Given the description of an element on the screen output the (x, y) to click on. 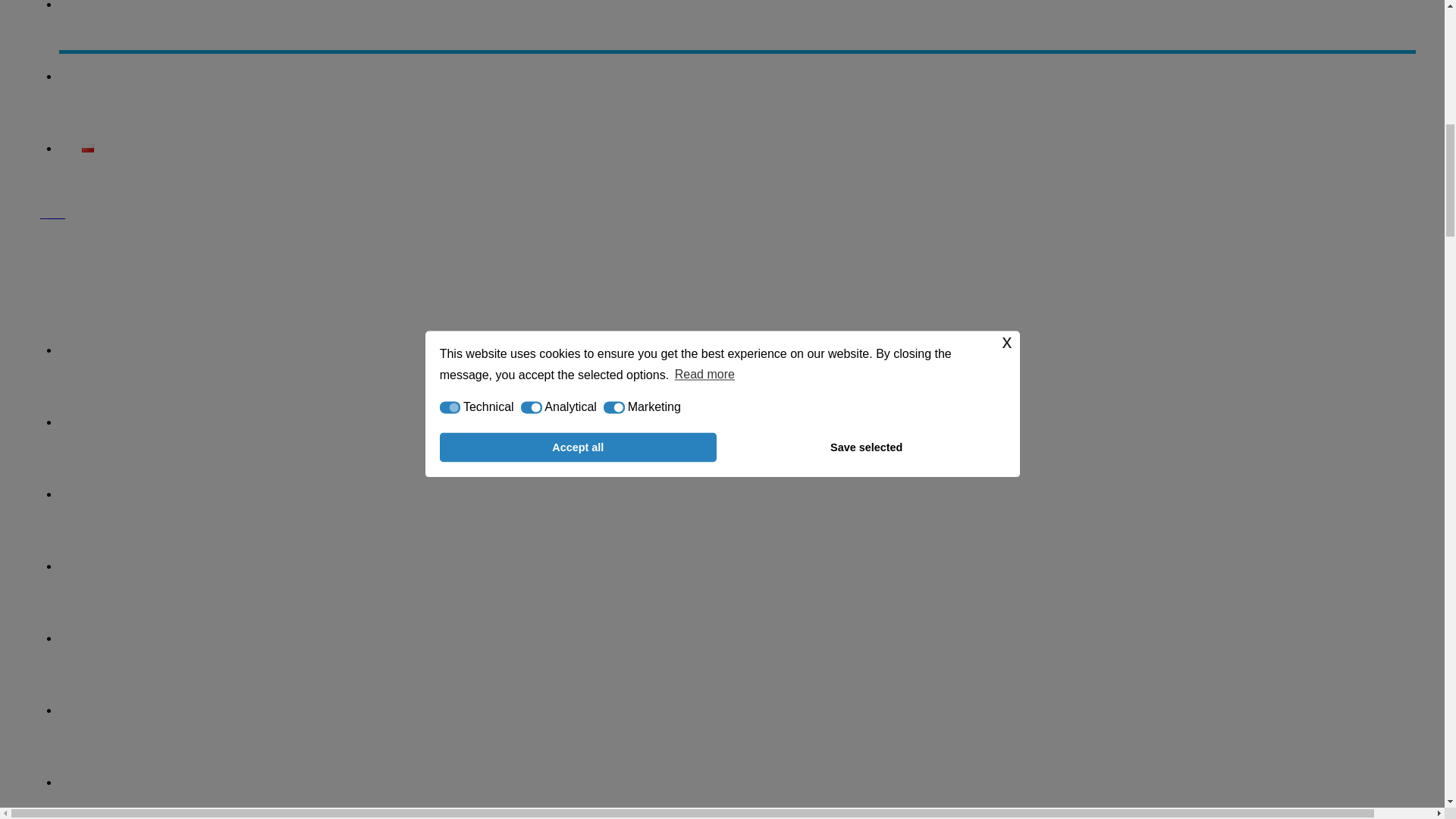
Terminal (737, 778)
B24 (722, 206)
Depot (737, 639)
Modifications (737, 567)
Contact (737, 78)
About us (737, 351)
Rental Of Containers (737, 495)
Career (737, 27)
Sale Of Containers (737, 423)
